Given the description of an element on the screen output the (x, y) to click on. 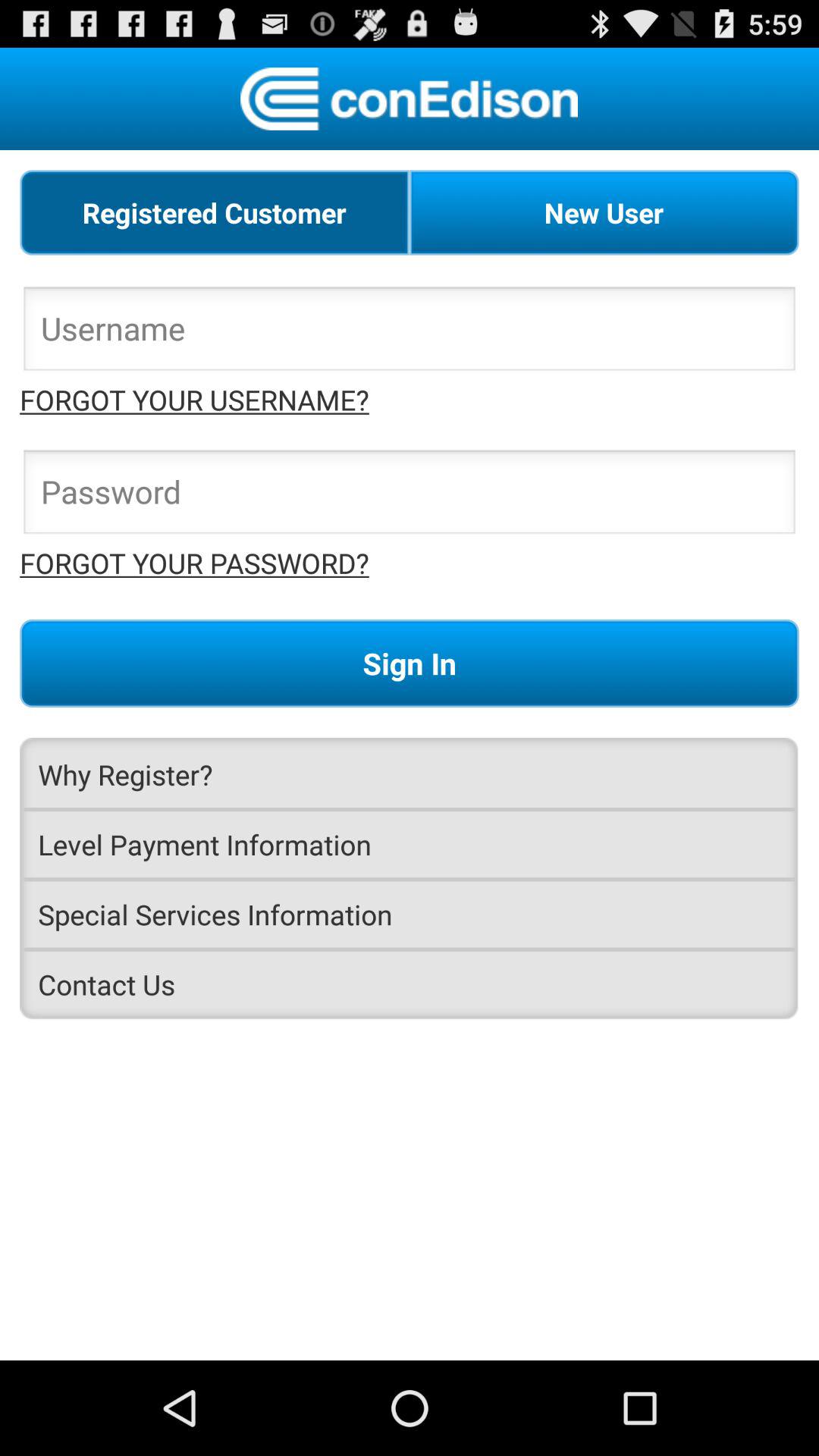
open the special services information (409, 914)
